Given the description of an element on the screen output the (x, y) to click on. 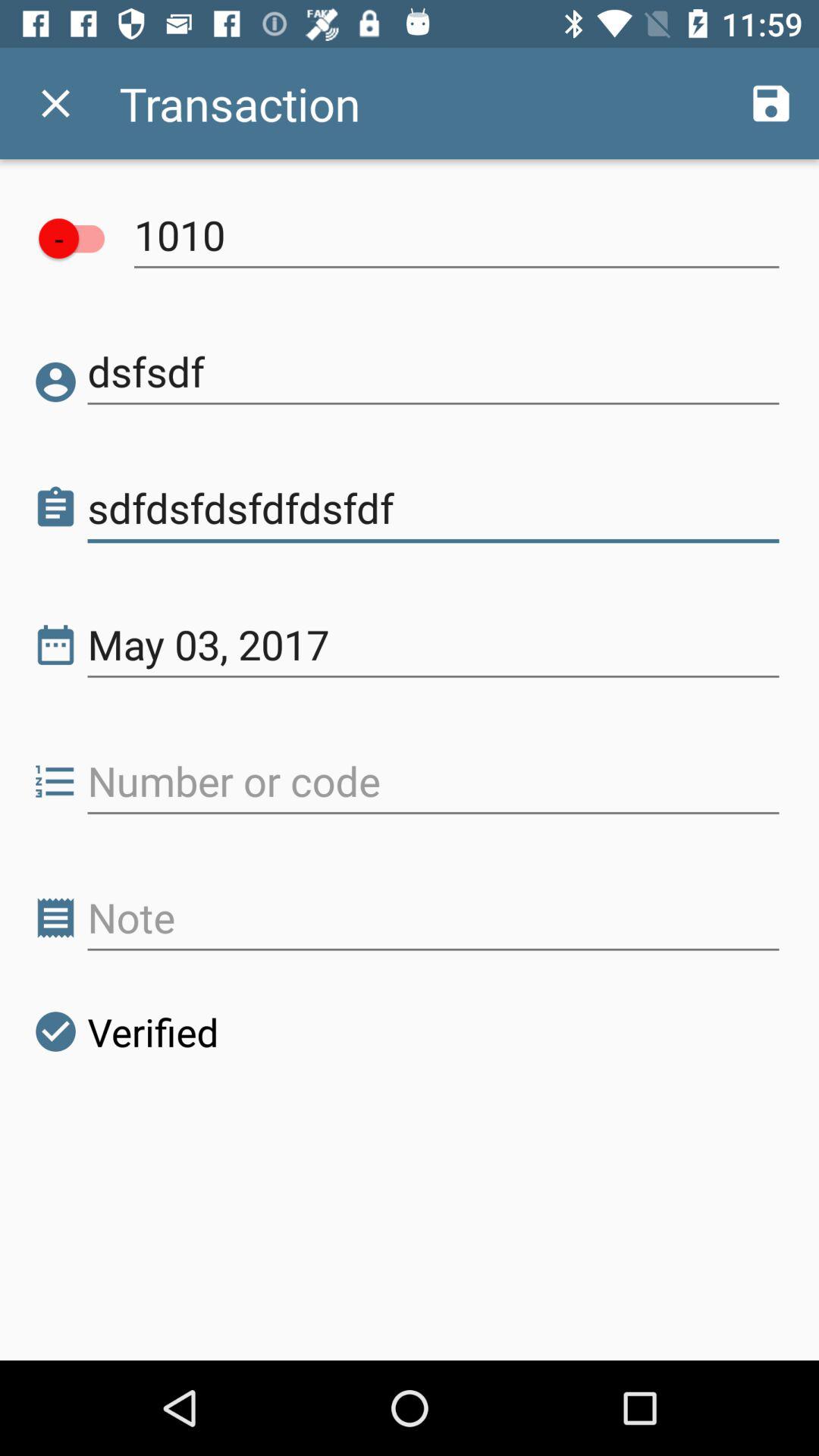
click the item above dsfsdf (456, 235)
